Given the description of an element on the screen output the (x, y) to click on. 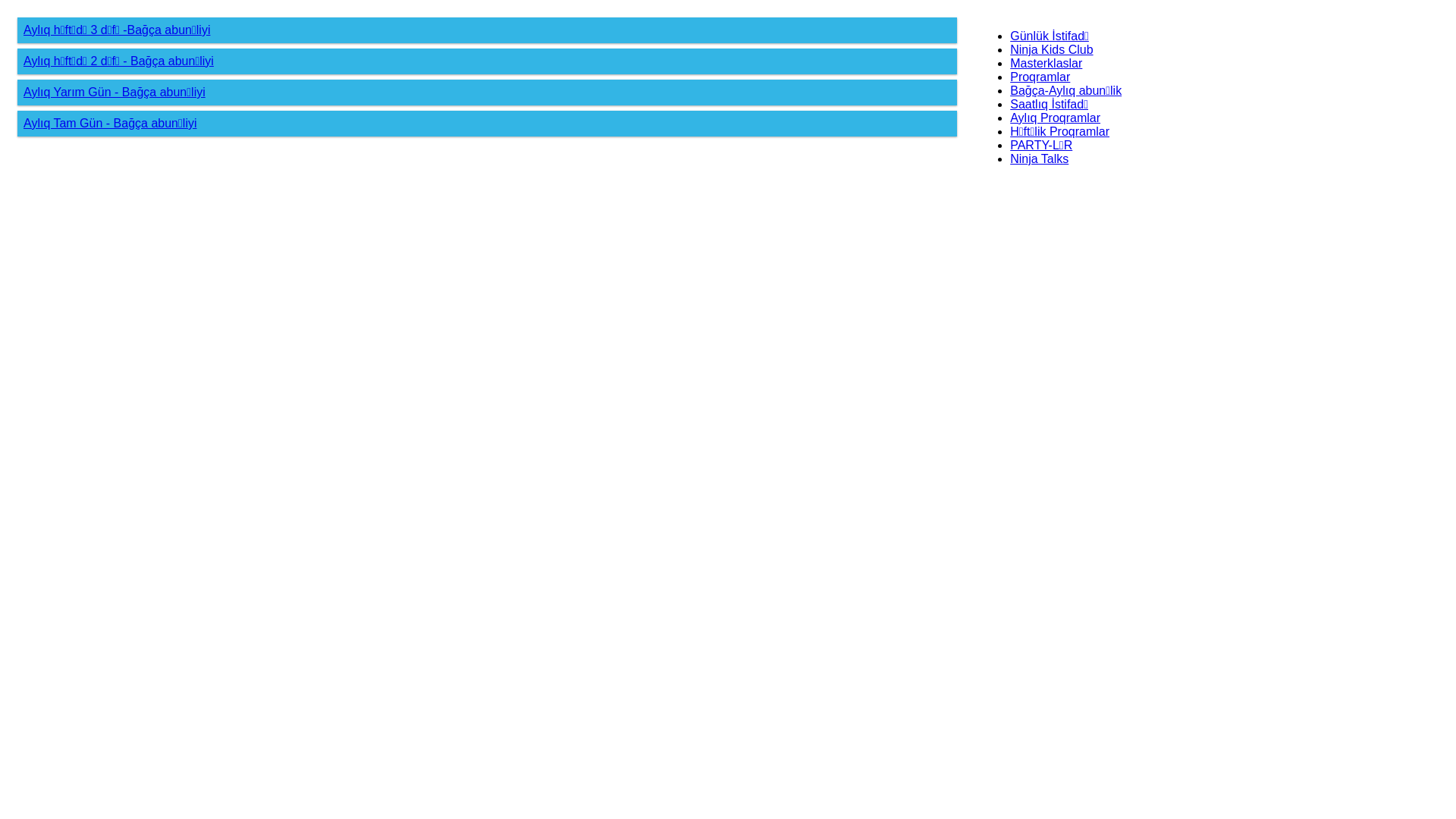
Proqramlar Element type: text (1040, 76)
Masterklaslar Element type: text (1046, 62)
Ninja Kids Club Element type: text (1051, 49)
Ninja Talks Element type: text (1039, 158)
